Given the description of an element on the screen output the (x, y) to click on. 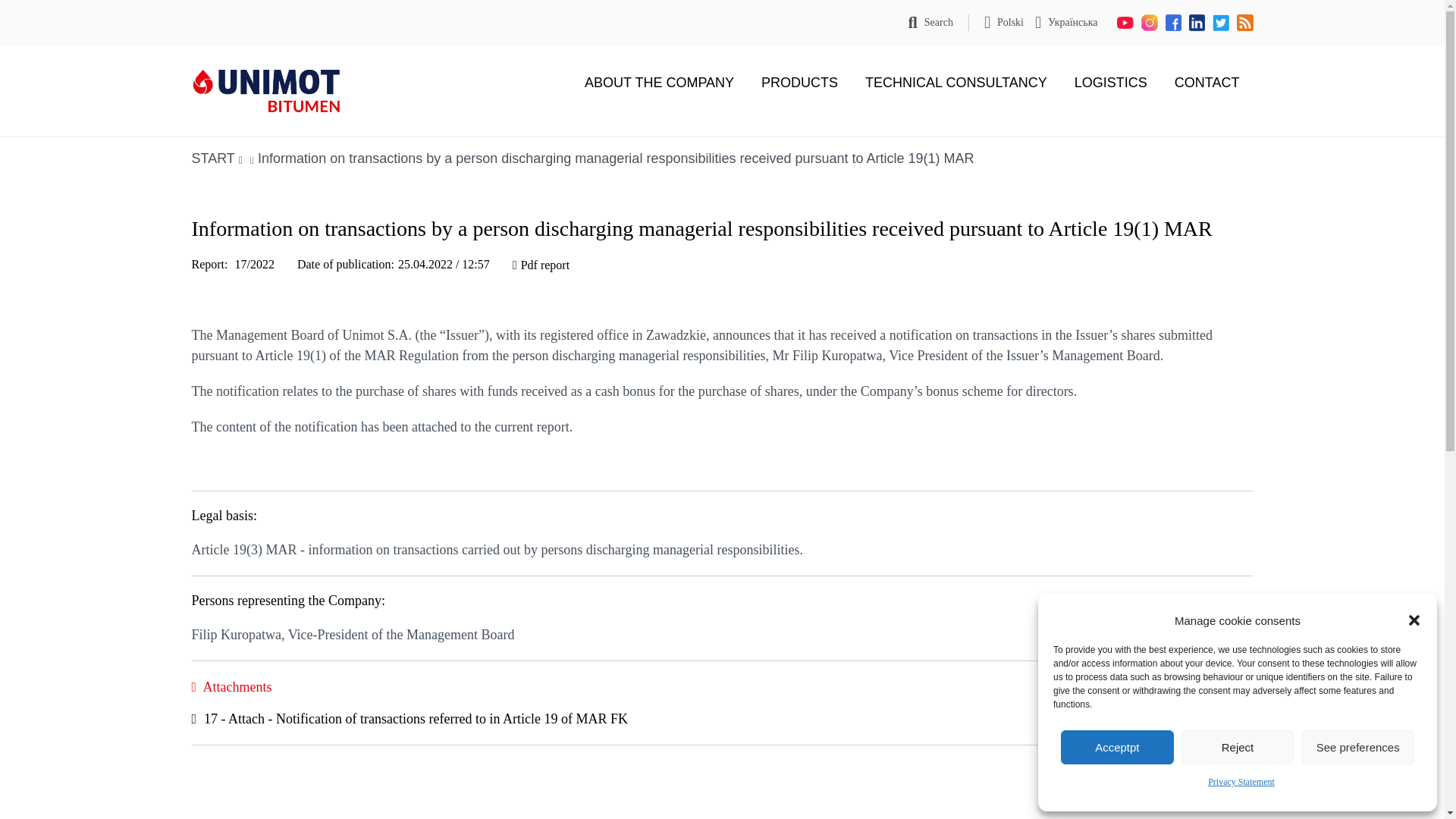
PRODUCTS (799, 82)
Polski (1003, 22)
ABOUT THE COMPANY (659, 82)
See preferences (1357, 747)
Reject (1237, 747)
Privacy Statement (1241, 782)
Search (930, 22)
Acceptpt (1117, 747)
